Given the description of an element on the screen output the (x, y) to click on. 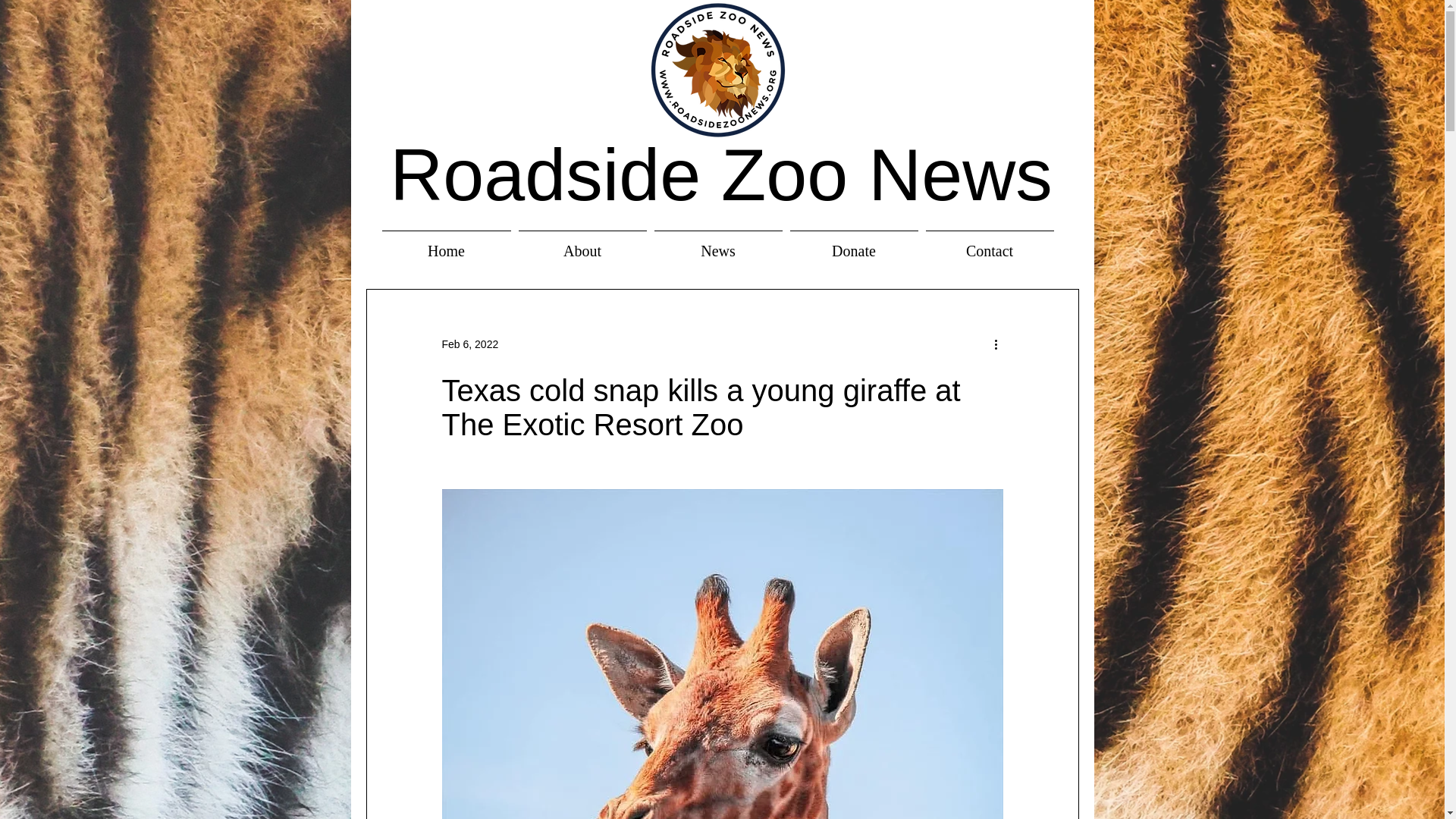
Feb 6, 2022 (469, 344)
Contact (989, 243)
Home (445, 243)
About (581, 243)
Donate (853, 243)
News (718, 243)
